Given the description of an element on the screen output the (x, y) to click on. 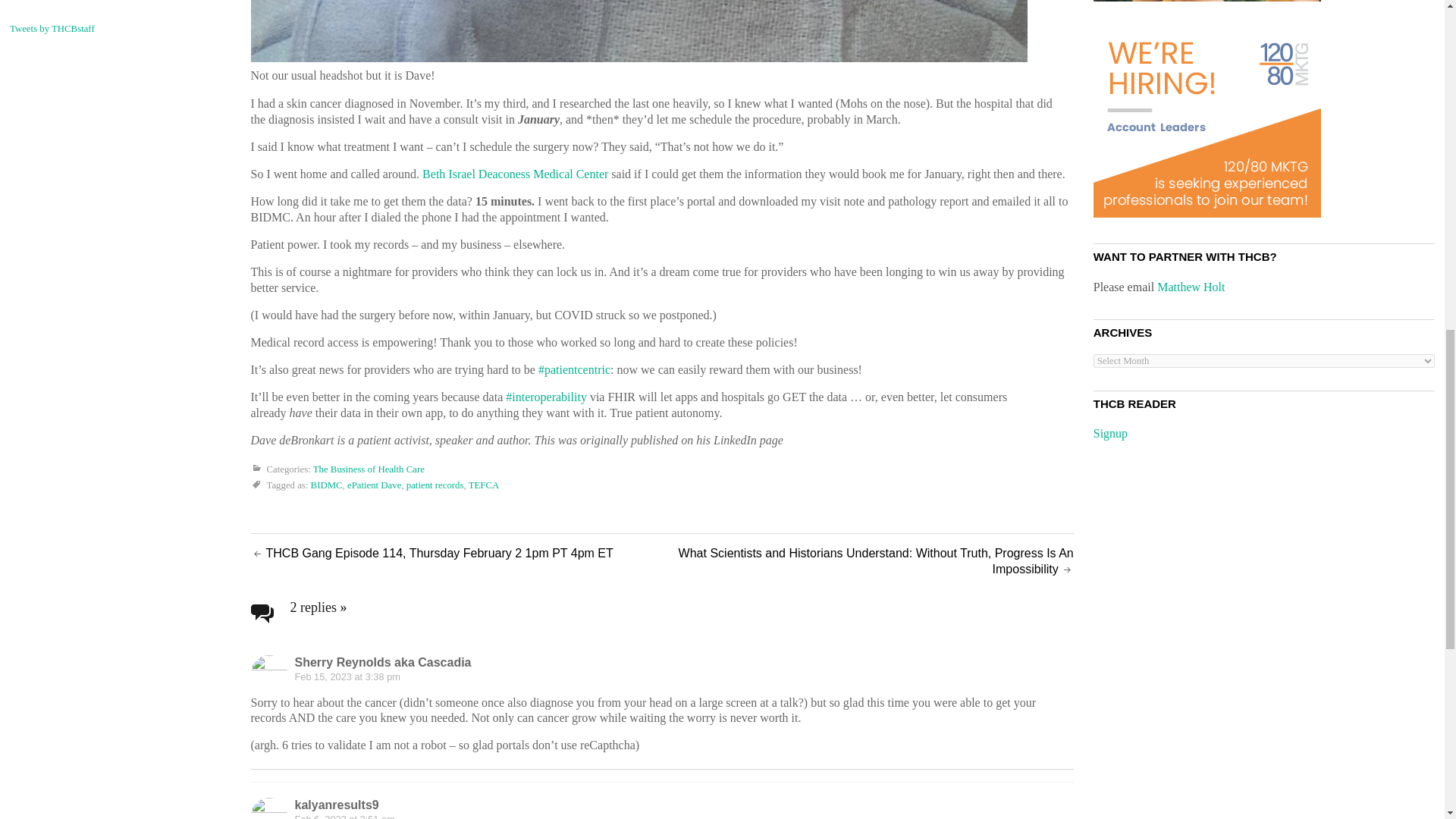
Beth Israel Deaconess Medical Center (515, 173)
THCB Gang Episode 114, Thursday February 2 1pm PT 4pm ET (438, 553)
Tweets by THCBstaff (52, 28)
TEFCA (483, 484)
The Business of Health Care (369, 469)
BIDMC (326, 484)
patient records (435, 484)
Feb 6, 2023 at 2:51 am (344, 816)
ePatient Dave (374, 484)
